Given the description of an element on the screen output the (x, y) to click on. 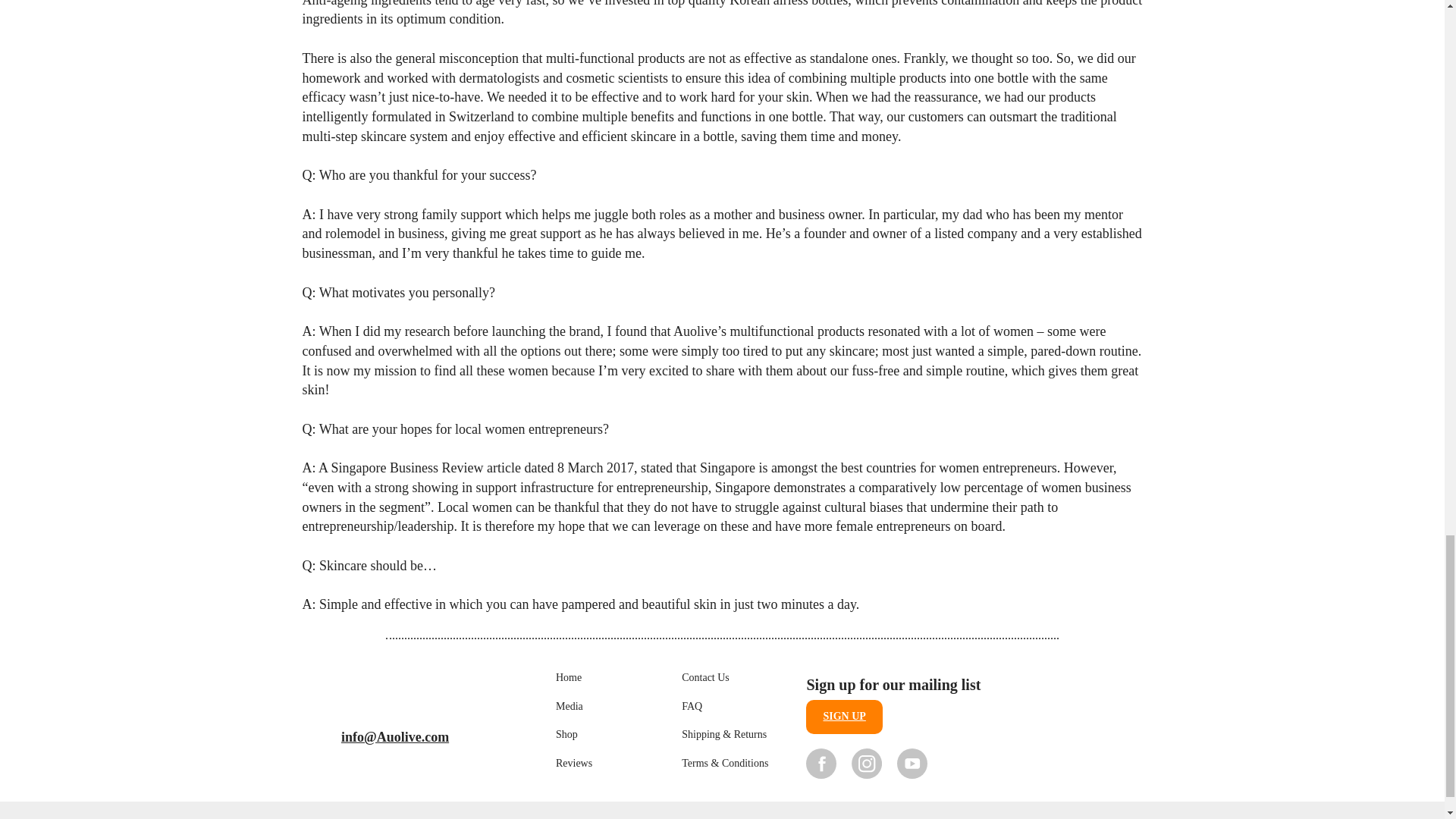
Shop (566, 734)
Social Link (820, 762)
Contact Us (704, 678)
Social Link (866, 762)
Auolive's Youtube Channel! (911, 762)
Media (569, 706)
SIGN UP (844, 716)
FAQ (691, 706)
Auolive's Instagram! (866, 762)
Social Link (911, 762)
Auolive's Facebook Page! (820, 762)
Home (568, 678)
Reviews (574, 763)
